Given the description of an element on the screen output the (x, y) to click on. 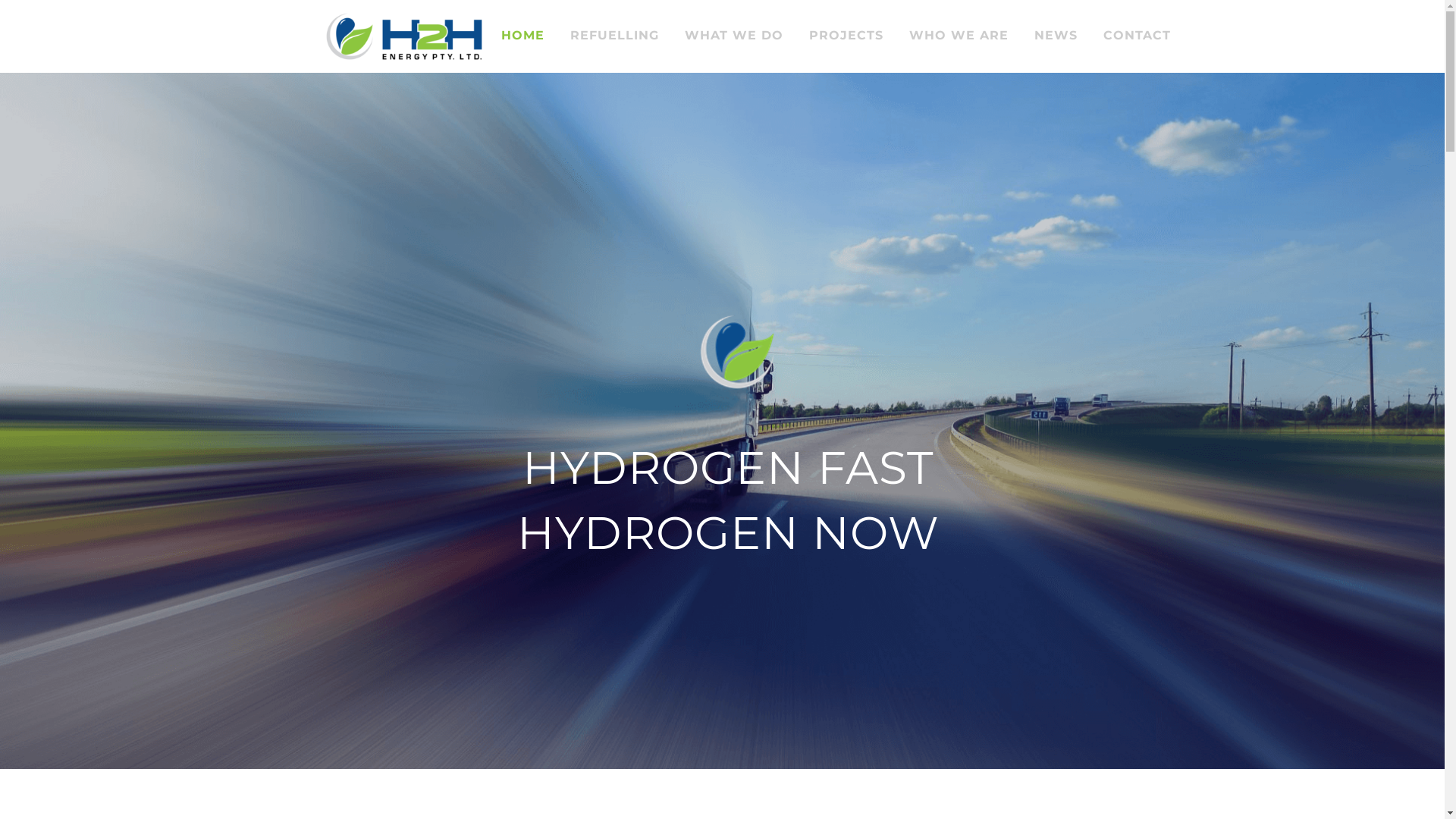
HOME Element type: text (522, 35)
CONTACT Element type: text (1136, 35)
NEWS Element type: text (1055, 35)
REFUELLING Element type: text (614, 35)
PROJECTS Element type: text (846, 35)
WHO WE ARE Element type: text (958, 35)
WHAT WE DO Element type: text (733, 35)
